Given the description of an element on the screen output the (x, y) to click on. 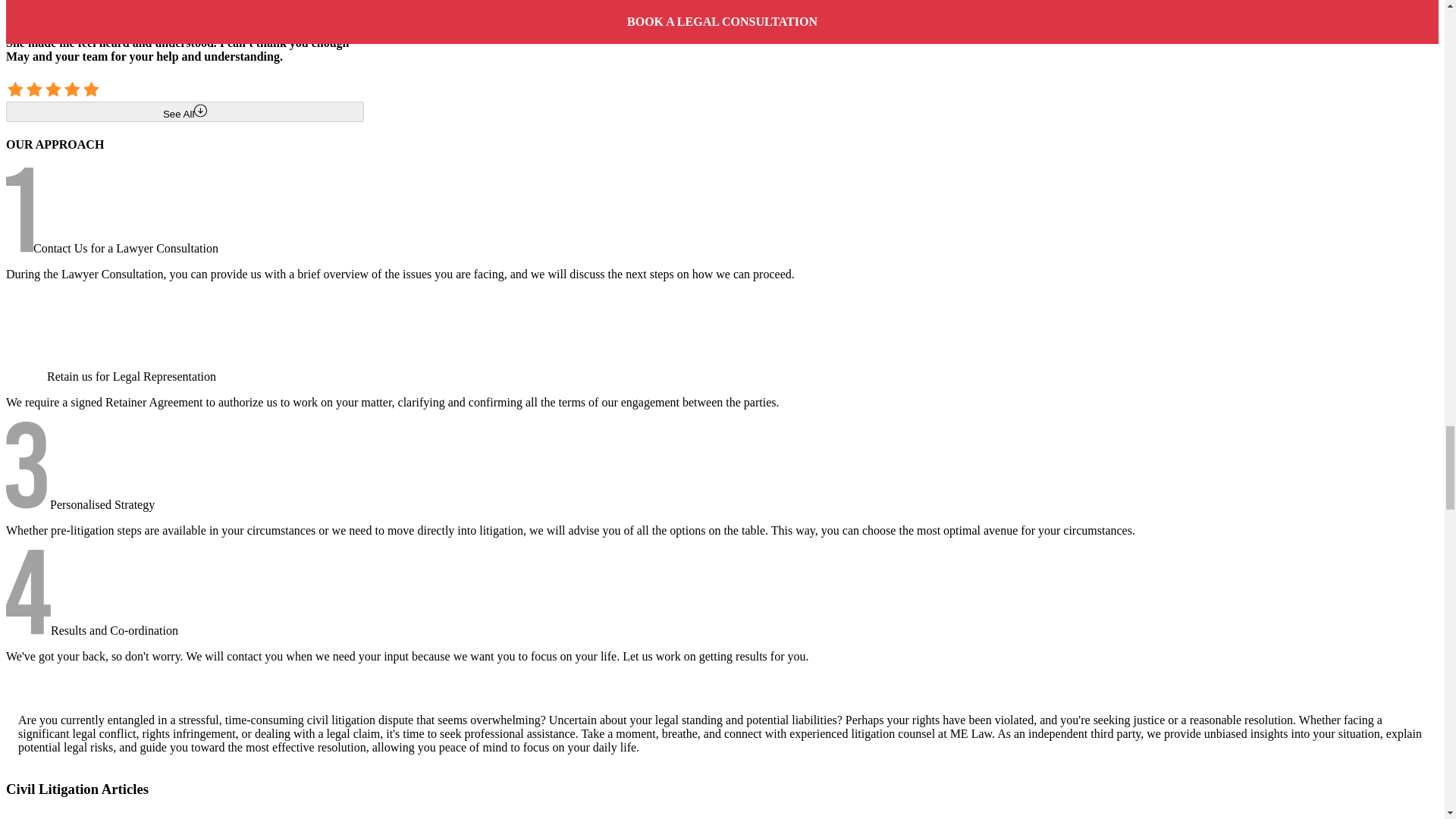
See All (184, 111)
See All (184, 3)
